Given the description of an element on the screen output the (x, y) to click on. 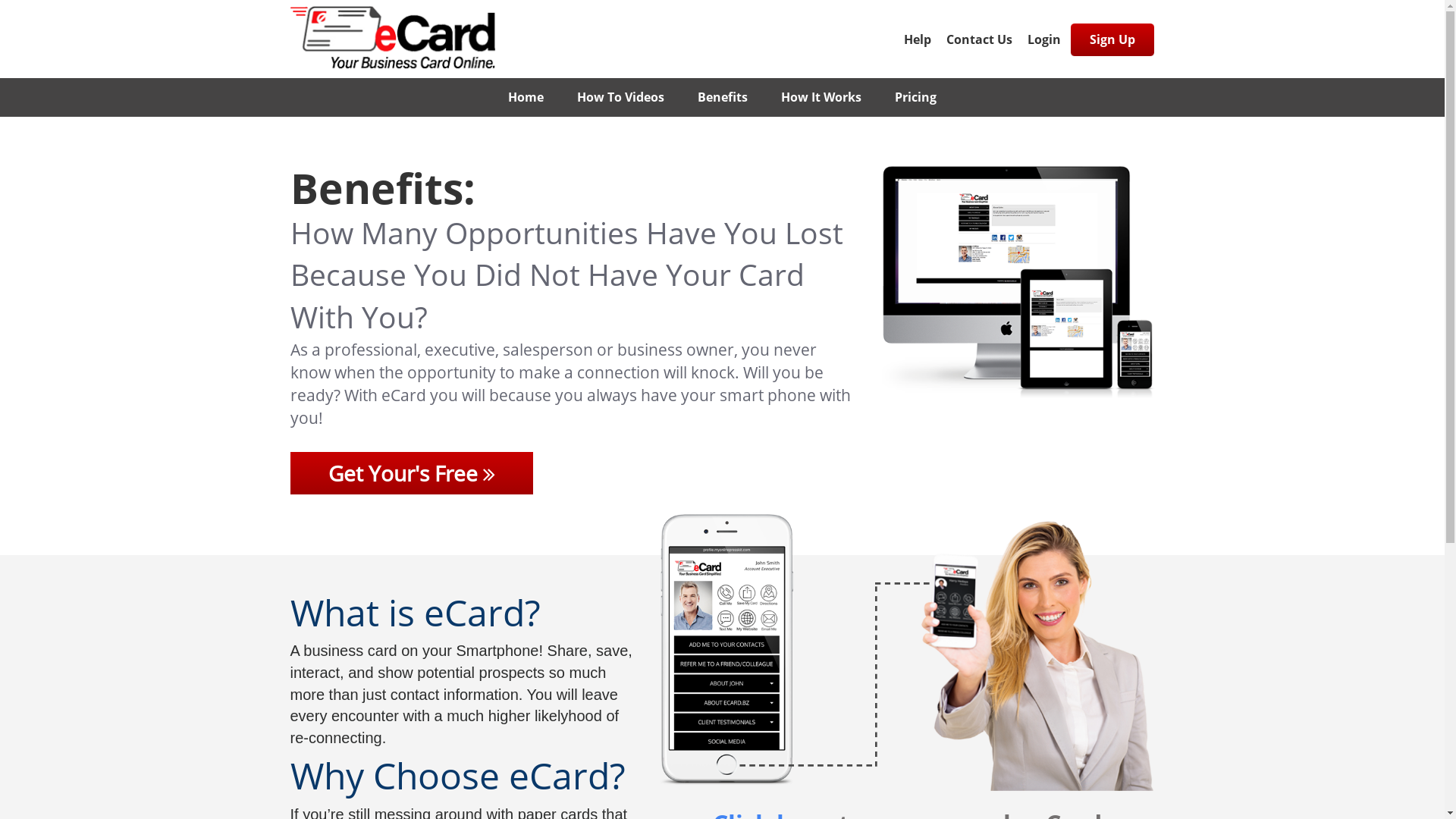
Pricing Element type: text (915, 97)
How To Videos Element type: text (620, 97)
Home Element type: text (525, 97)
Benefits Element type: text (722, 97)
Contact Us Element type: text (979, 39)
Login Element type: text (1043, 39)
How It Works Element type: text (820, 97)
Help Element type: text (917, 39)
Get Your's Free Element type: text (410, 472)
Sign Up Element type: text (1111, 39)
